Given the description of an element on the screen output the (x, y) to click on. 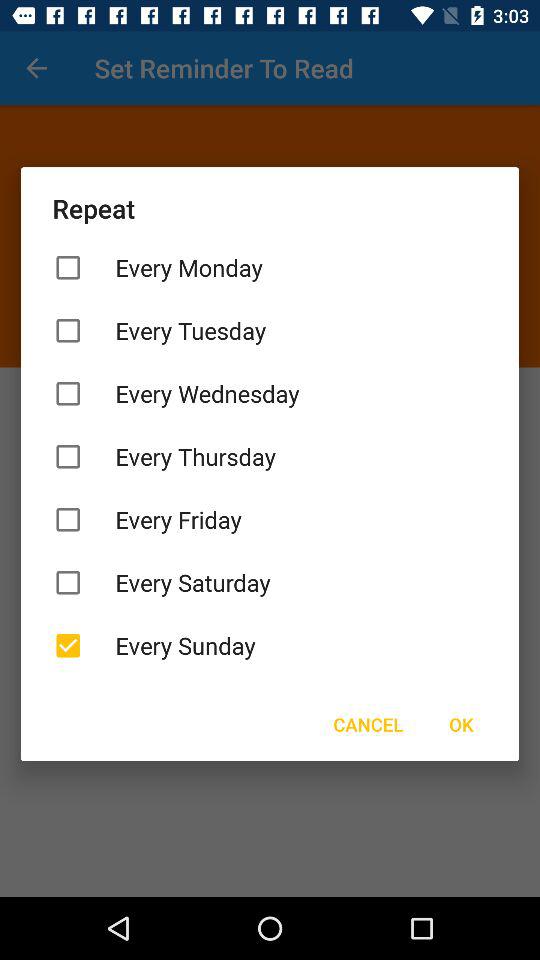
launch the every thursday item (270, 456)
